Given the description of an element on the screen output the (x, y) to click on. 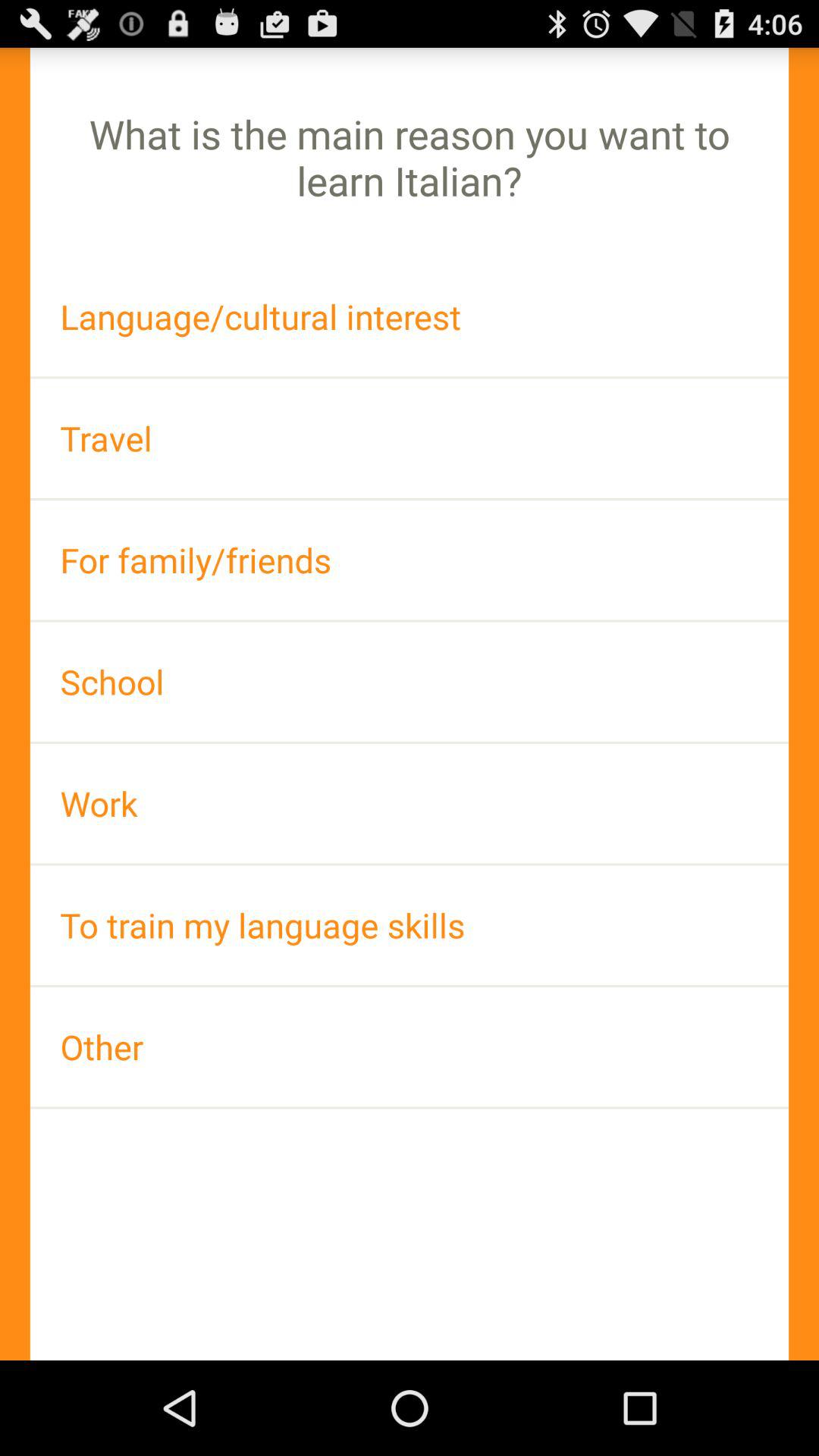
click the to train my icon (409, 925)
